Given the description of an element on the screen output the (x, y) to click on. 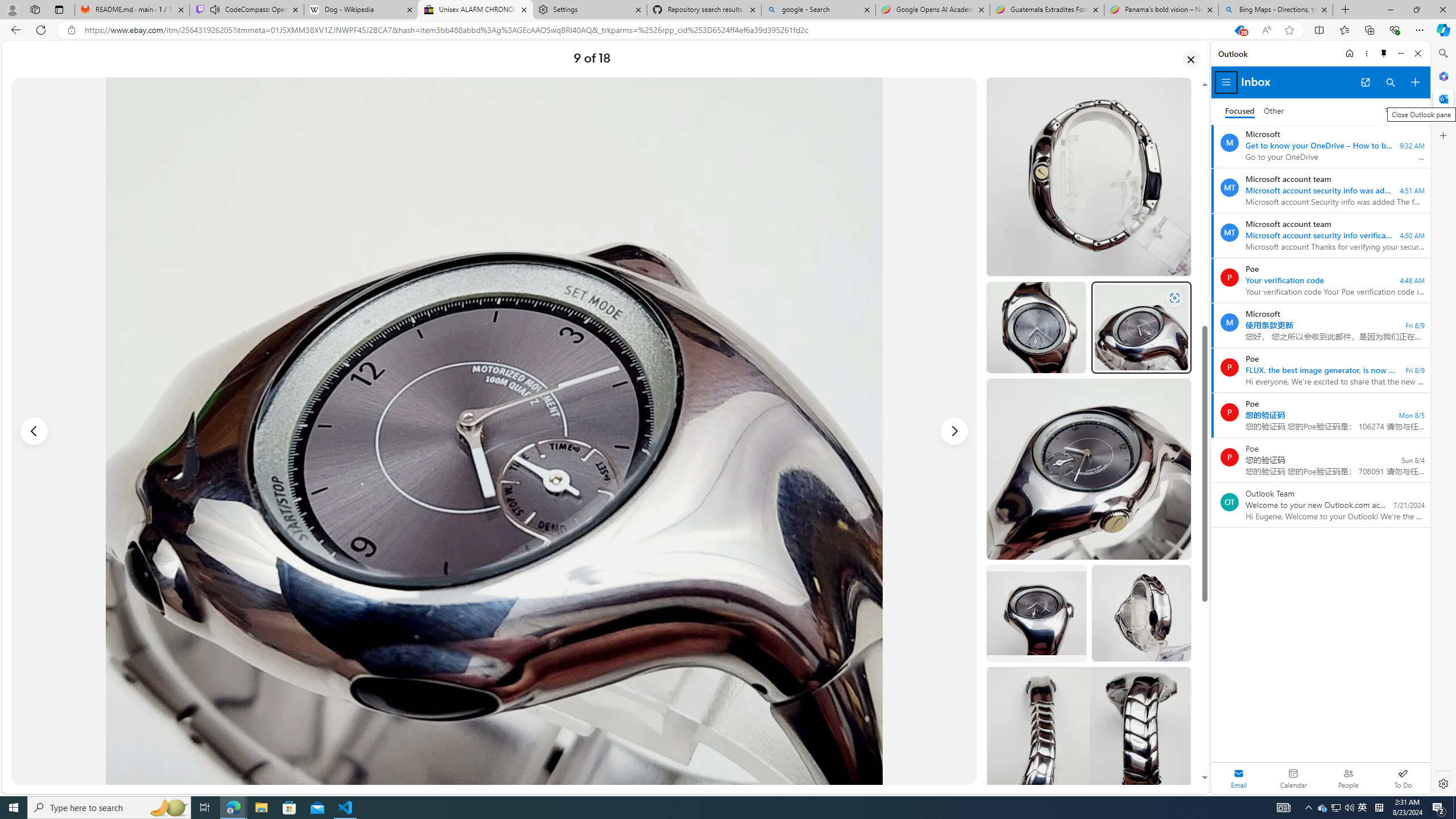
Filter (1399, 110)
Calendar. Date today is 22 (1293, 777)
